Given the description of an element on the screen output the (x, y) to click on. 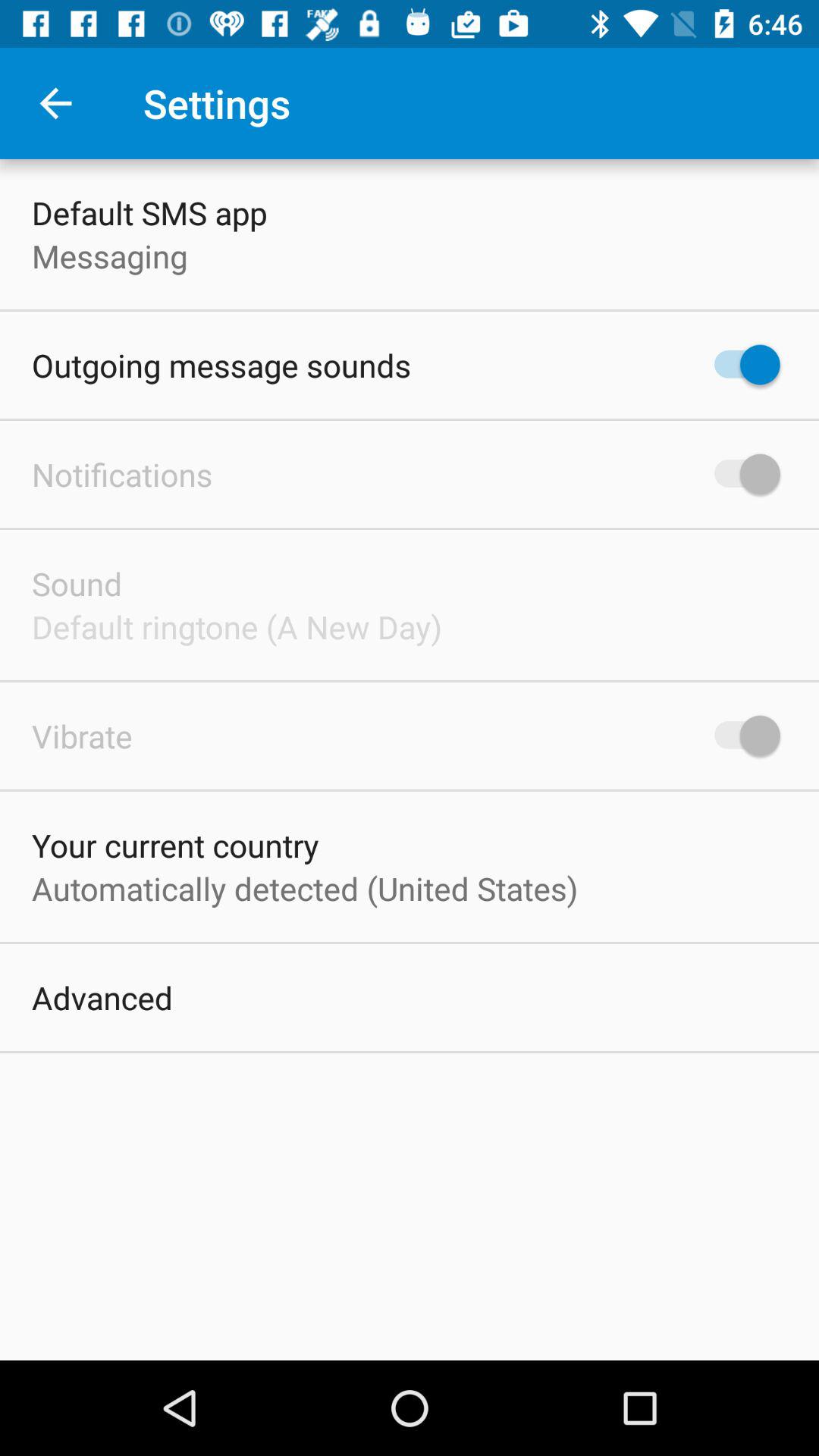
turn on messaging icon (109, 255)
